Given the description of an element on the screen output the (x, y) to click on. 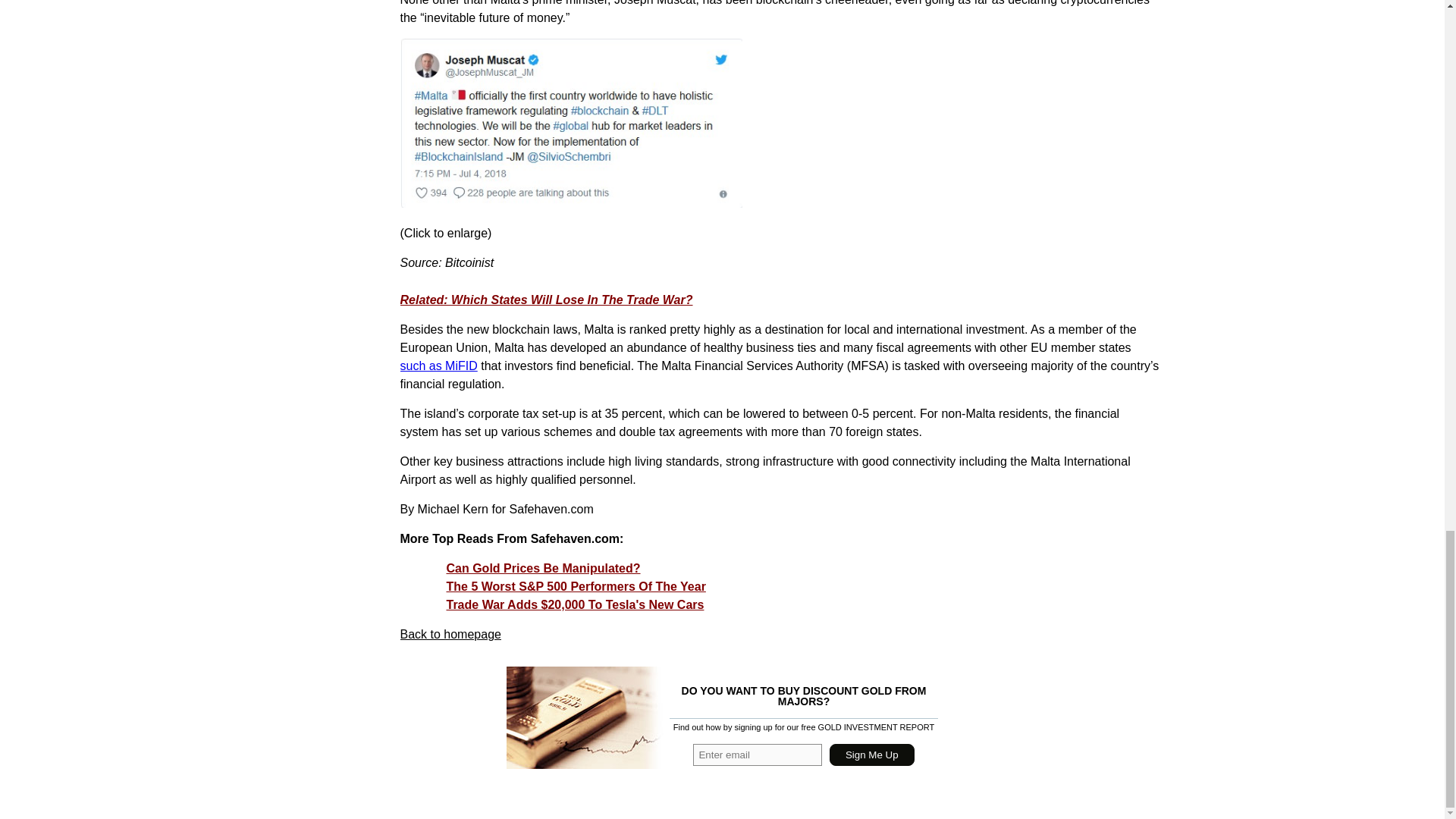
Sign Me Up (871, 754)
